Given the description of an element on the screen output the (x, y) to click on. 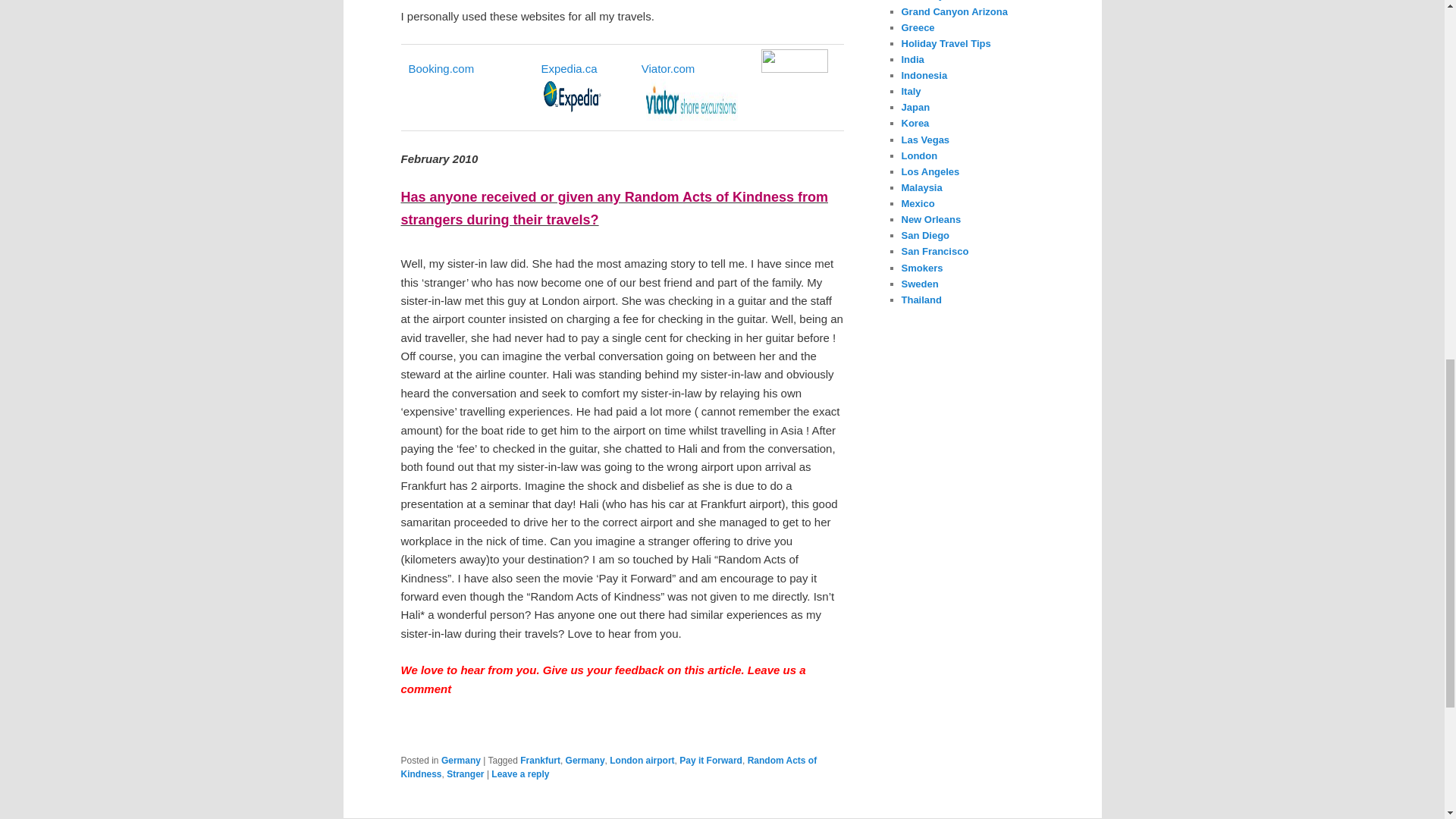
Holiday Travel Tips (945, 43)
Germany (585, 760)
Greece (917, 27)
Viator.com (668, 68)
Expedia photo (570, 96)
Grand Canyon Arizona (954, 11)
Frankfurt (539, 760)
Germany (922, 0)
Pay it Forward (710, 760)
Booking.com (440, 68)
